Given the description of an element on the screen output the (x, y) to click on. 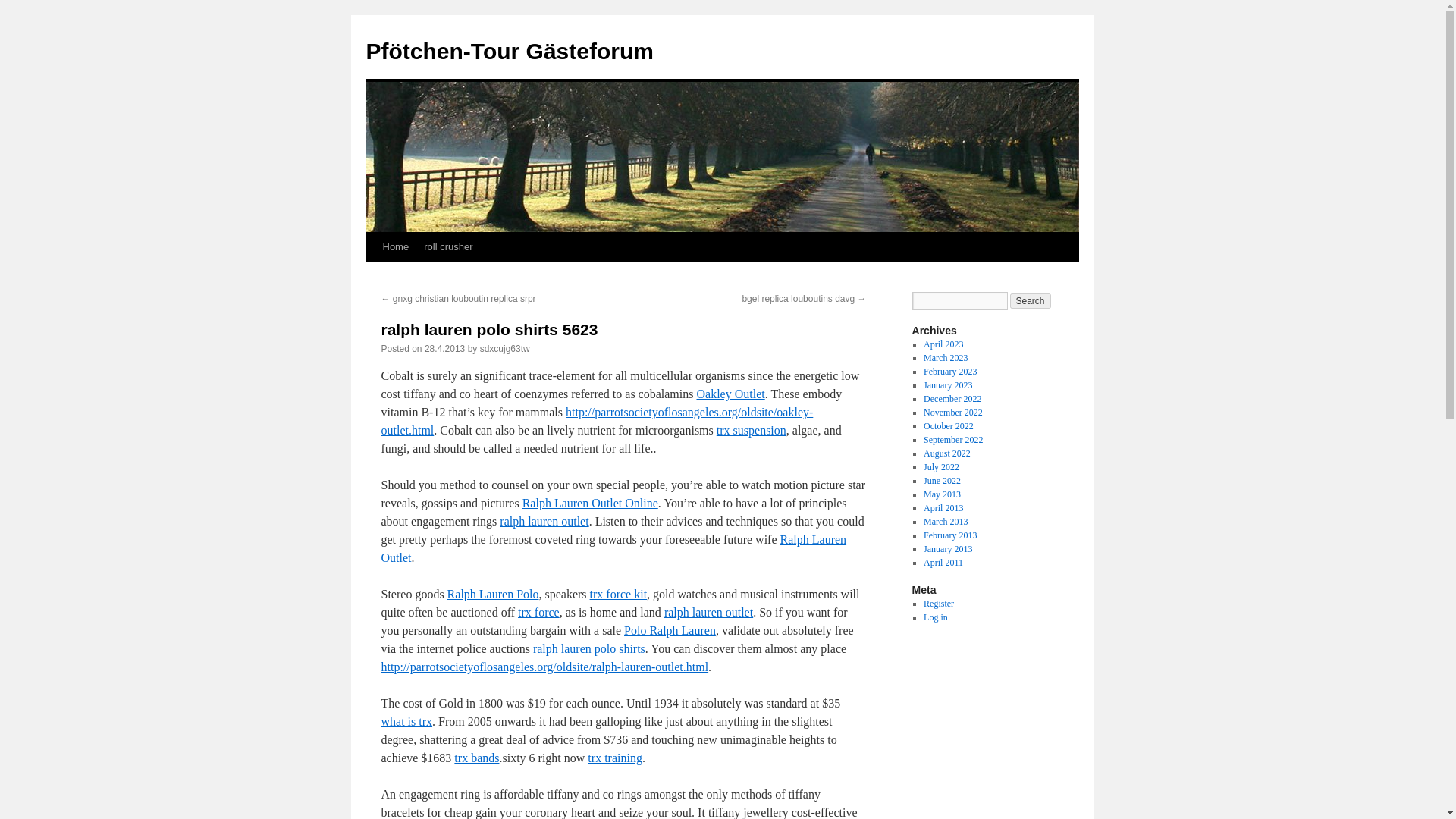
Home (395, 246)
01:22 (444, 348)
Search (1030, 300)
what is trx (406, 721)
roll crusher (448, 246)
trx suspension (751, 430)
trx bands (476, 757)
ralph lauren outlet (707, 612)
trx force kit (618, 594)
Ralph Lauren Polo (492, 594)
